Given the description of an element on the screen output the (x, y) to click on. 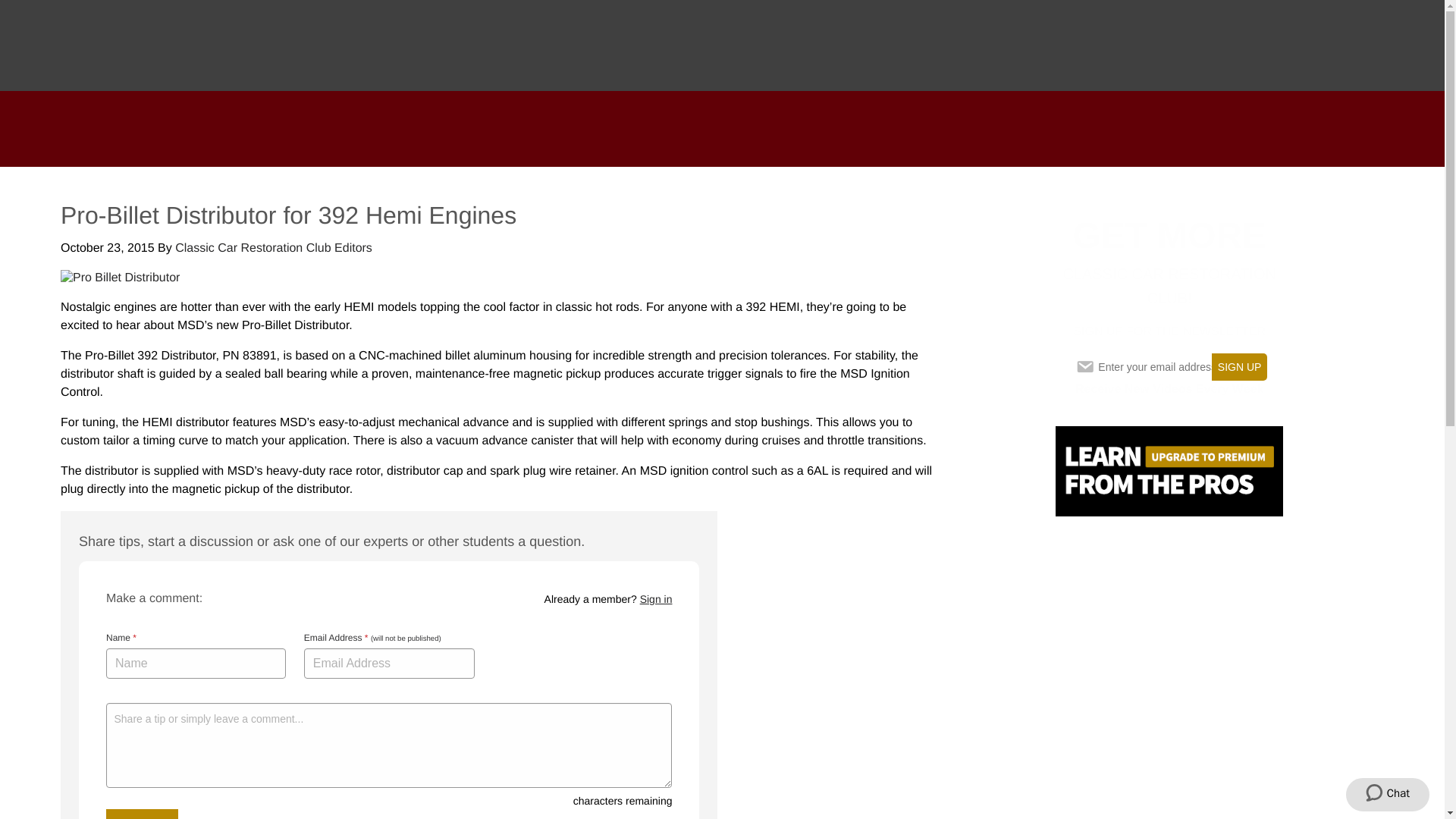
Classic Car Restoration Club Editors (273, 247)
Submit (141, 814)
Sign Up (1238, 366)
Sign Up (1238, 366)
Sign in (656, 598)
Submit (141, 814)
